Given the description of an element on the screen output the (x, y) to click on. 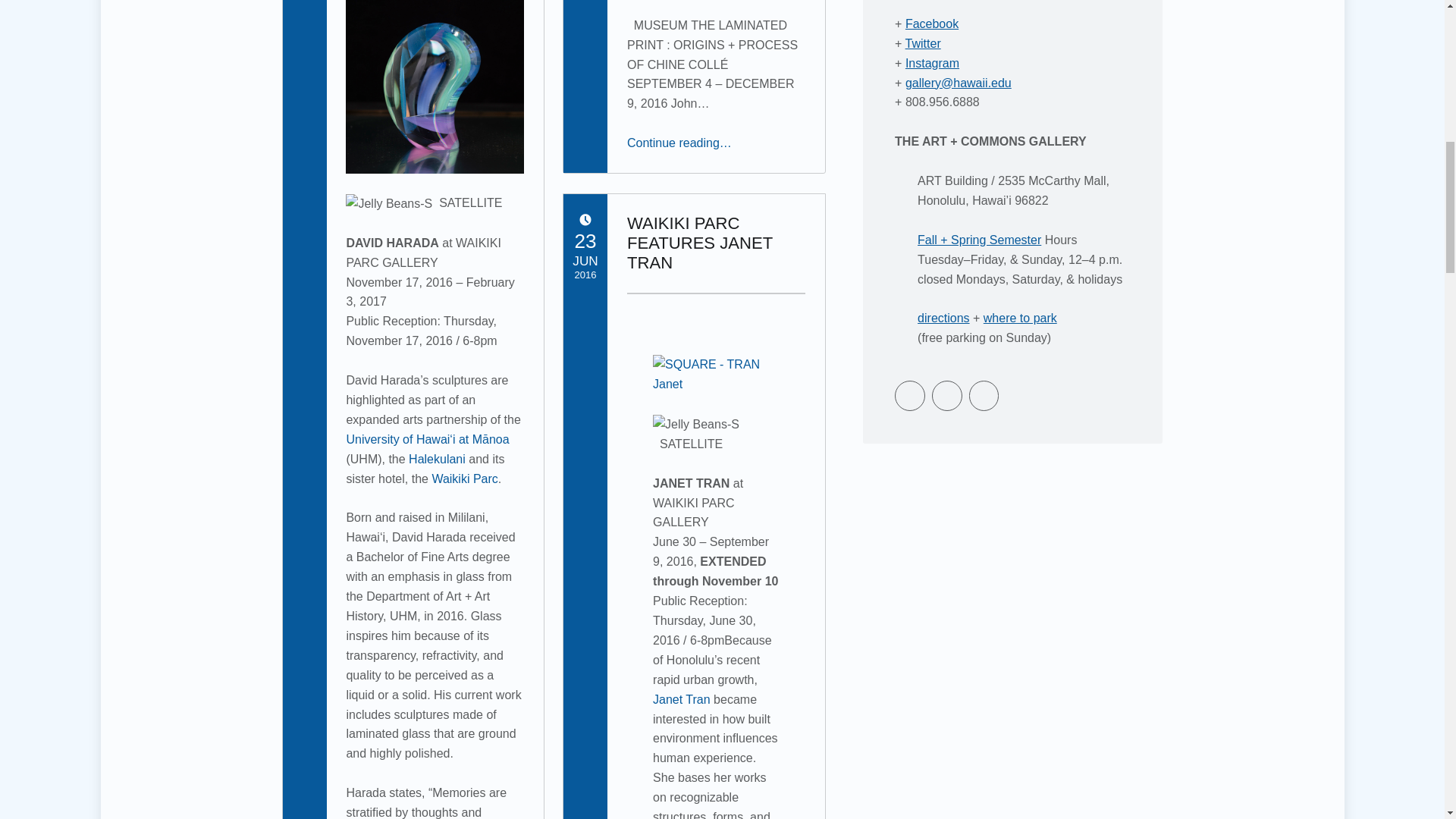
Waikiki Parc (463, 478)
Get the best WordPress themes! (983, 395)
Halekulani (437, 459)
